Given the description of an element on the screen output the (x, y) to click on. 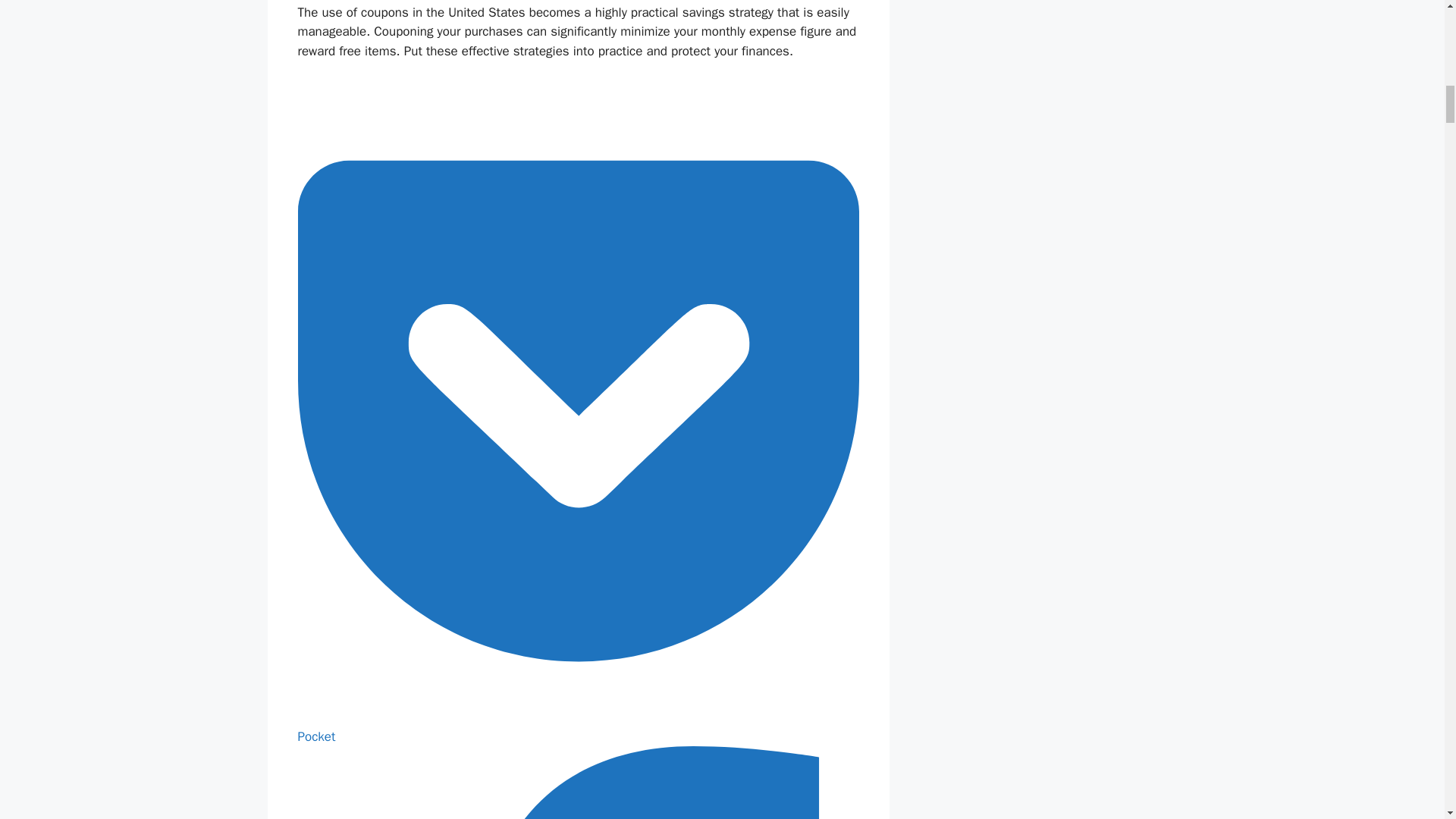
Pocket (578, 726)
